Given the description of an element on the screen output the (x, y) to click on. 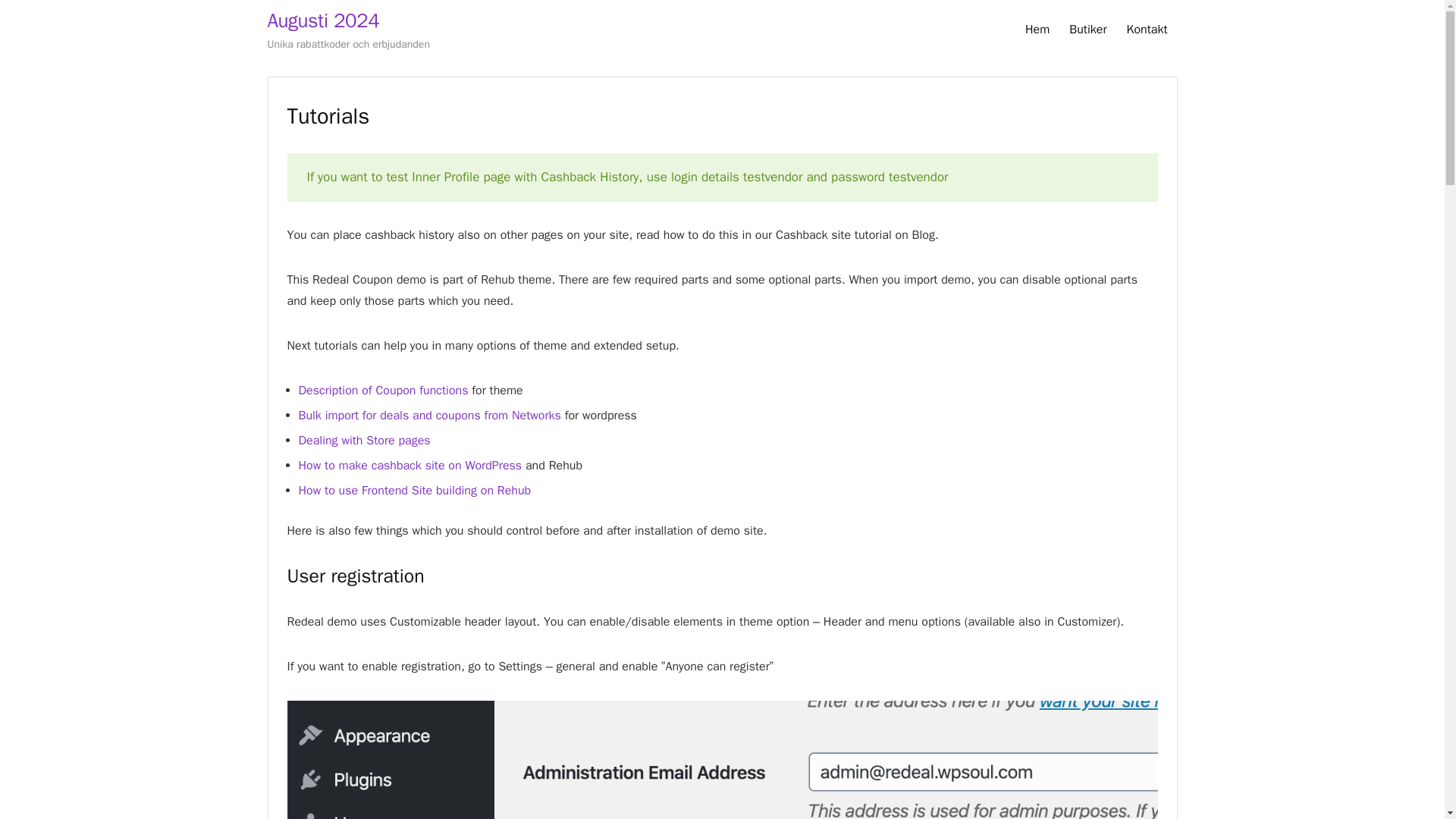
Hem (1036, 30)
How to make cashback site on WordPress (410, 465)
Bulk import for deals and coupons from Networks (429, 415)
Dealing with Store pages (364, 440)
Kontakt (1146, 30)
Description of Coupon functions (383, 390)
Butiker (1087, 30)
How to use Frontend Site building on Rehub (414, 490)
